Given the description of an element on the screen output the (x, y) to click on. 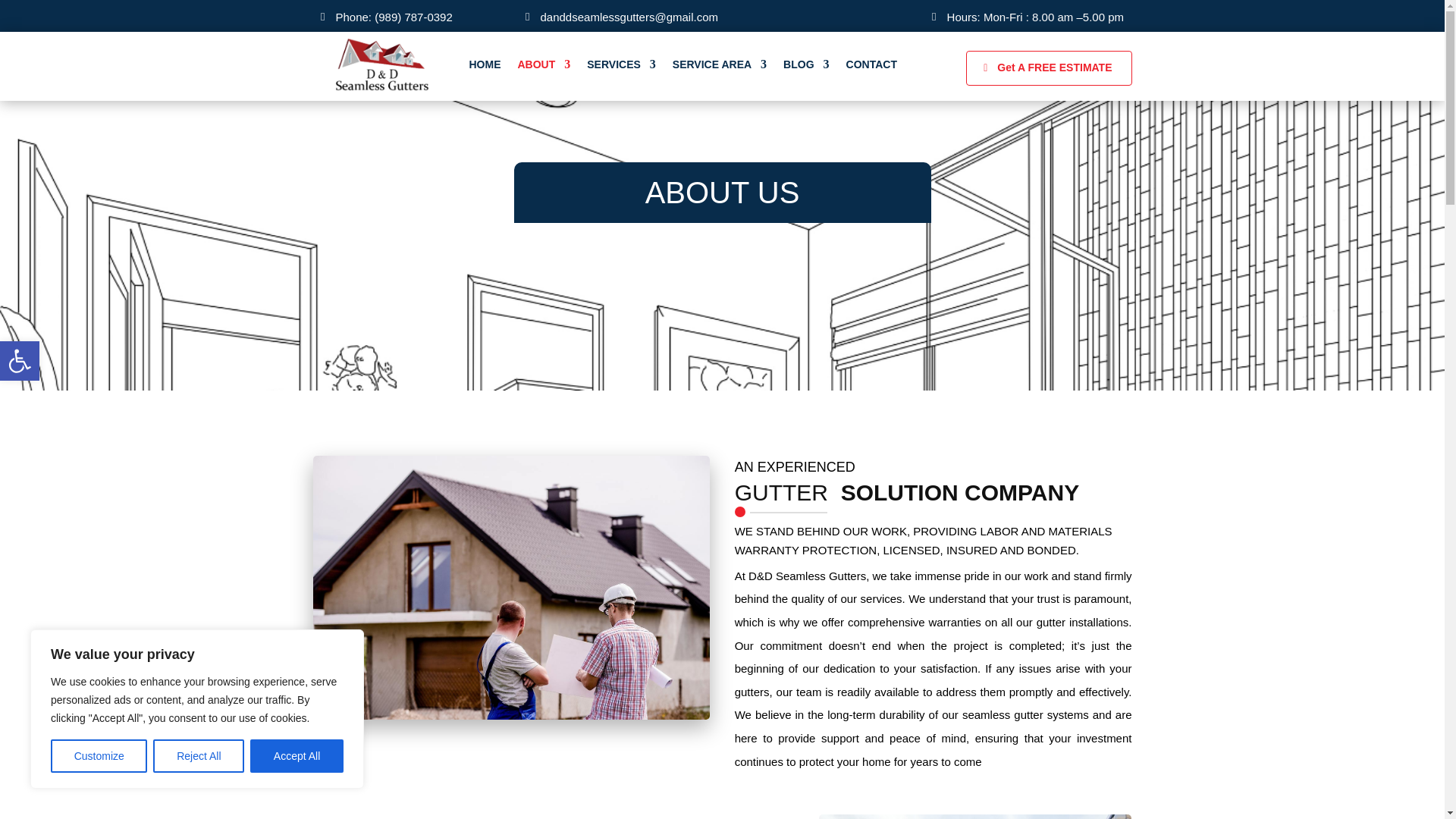
SERVICES (19, 360)
Accessibility Tools (621, 64)
ABOUT (19, 360)
SERVICE AREA (543, 64)
Accept All (719, 64)
Reject All (296, 756)
Customize (198, 756)
Accessibility Tools (98, 756)
239 (19, 360)
divi-roofing-theme-1 (975, 816)
